Given the description of an element on the screen output the (x, y) to click on. 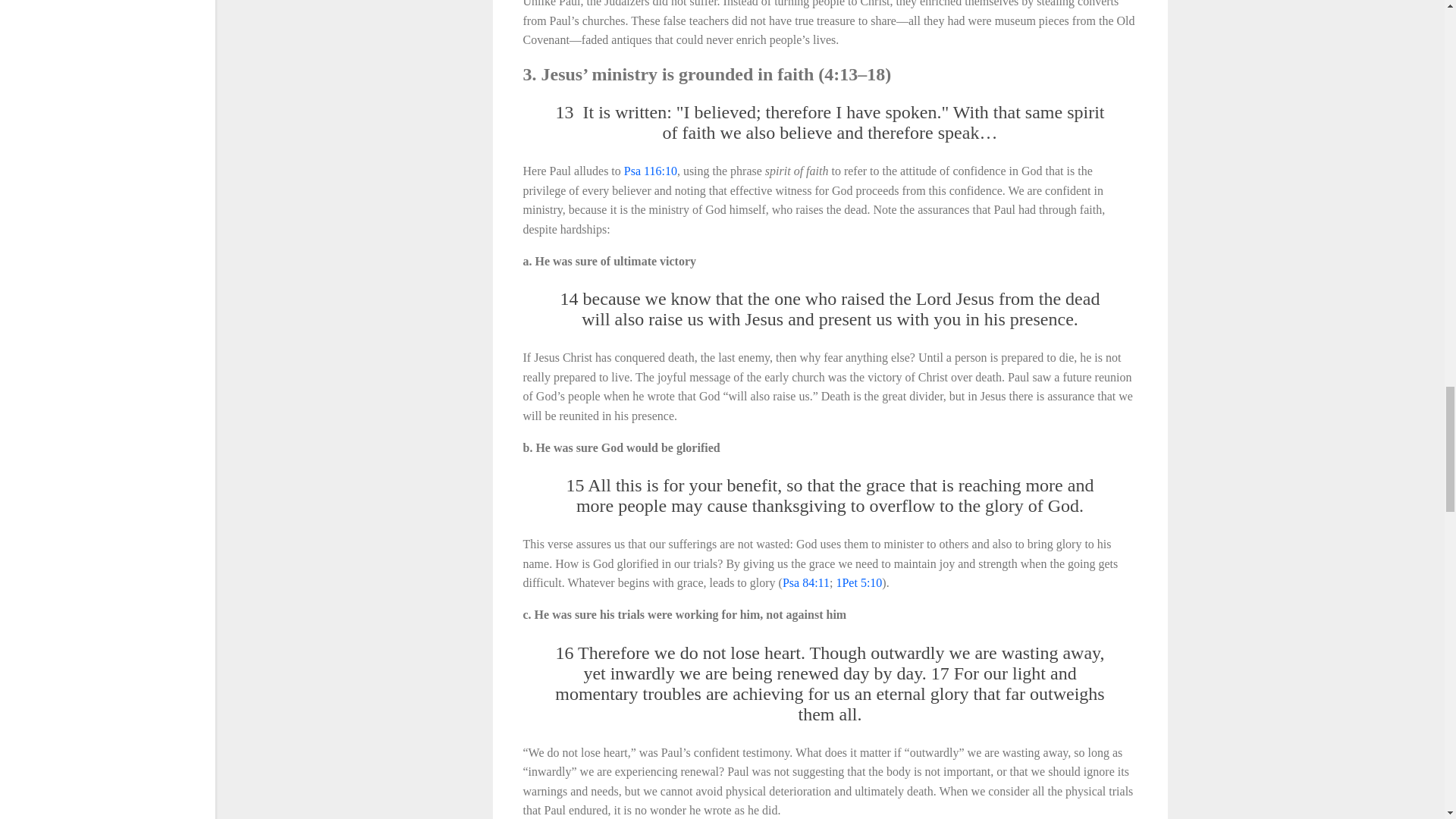
1Pet 5:10 (858, 582)
Psa 84:11 (806, 582)
Psa 116:10 (650, 170)
